Given the description of an element on the screen output the (x, y) to click on. 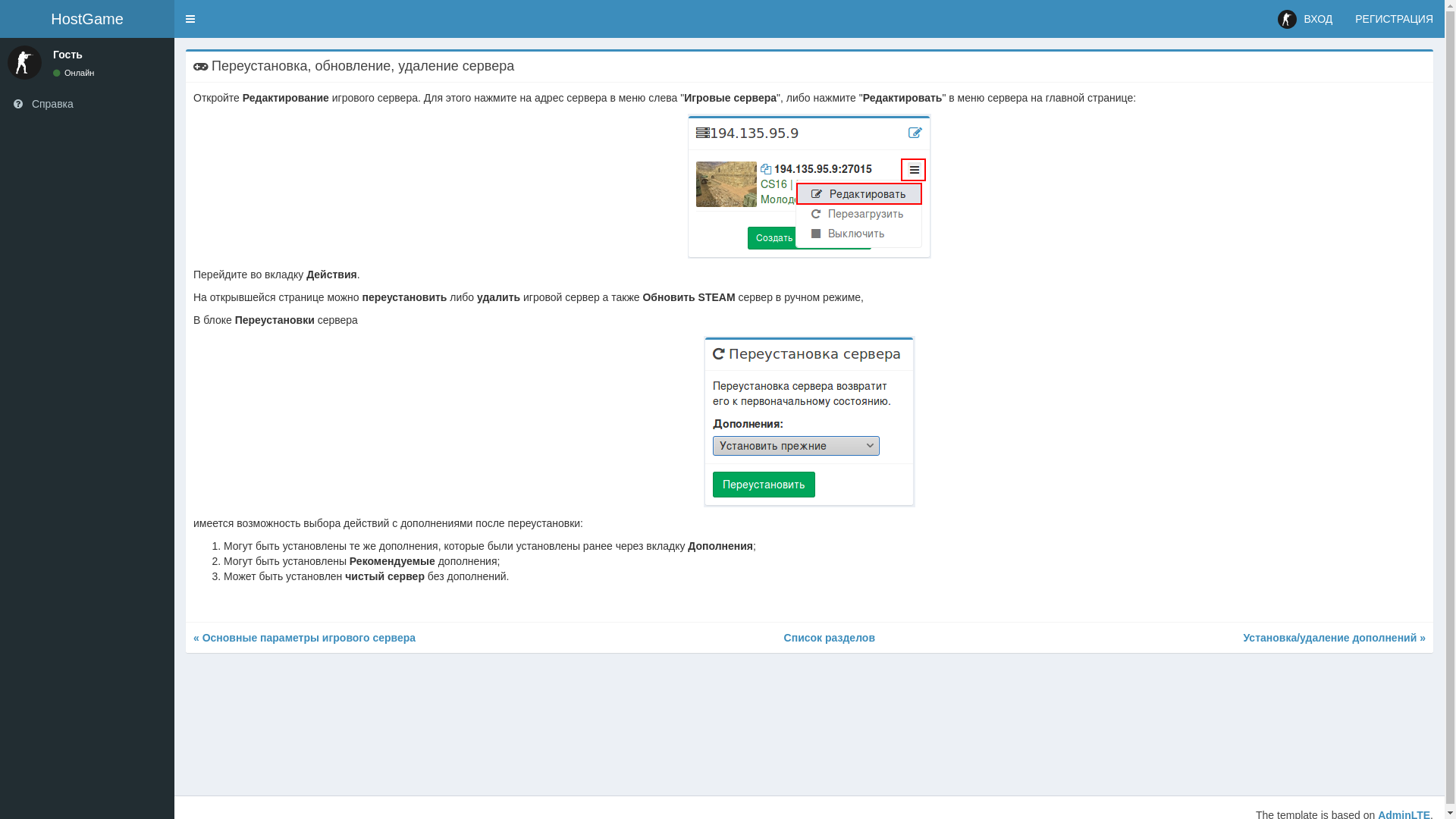
HostGame Element type: text (87, 18)
Toggle navigation Element type: text (190, 18)
